Given the description of an element on the screen output the (x, y) to click on. 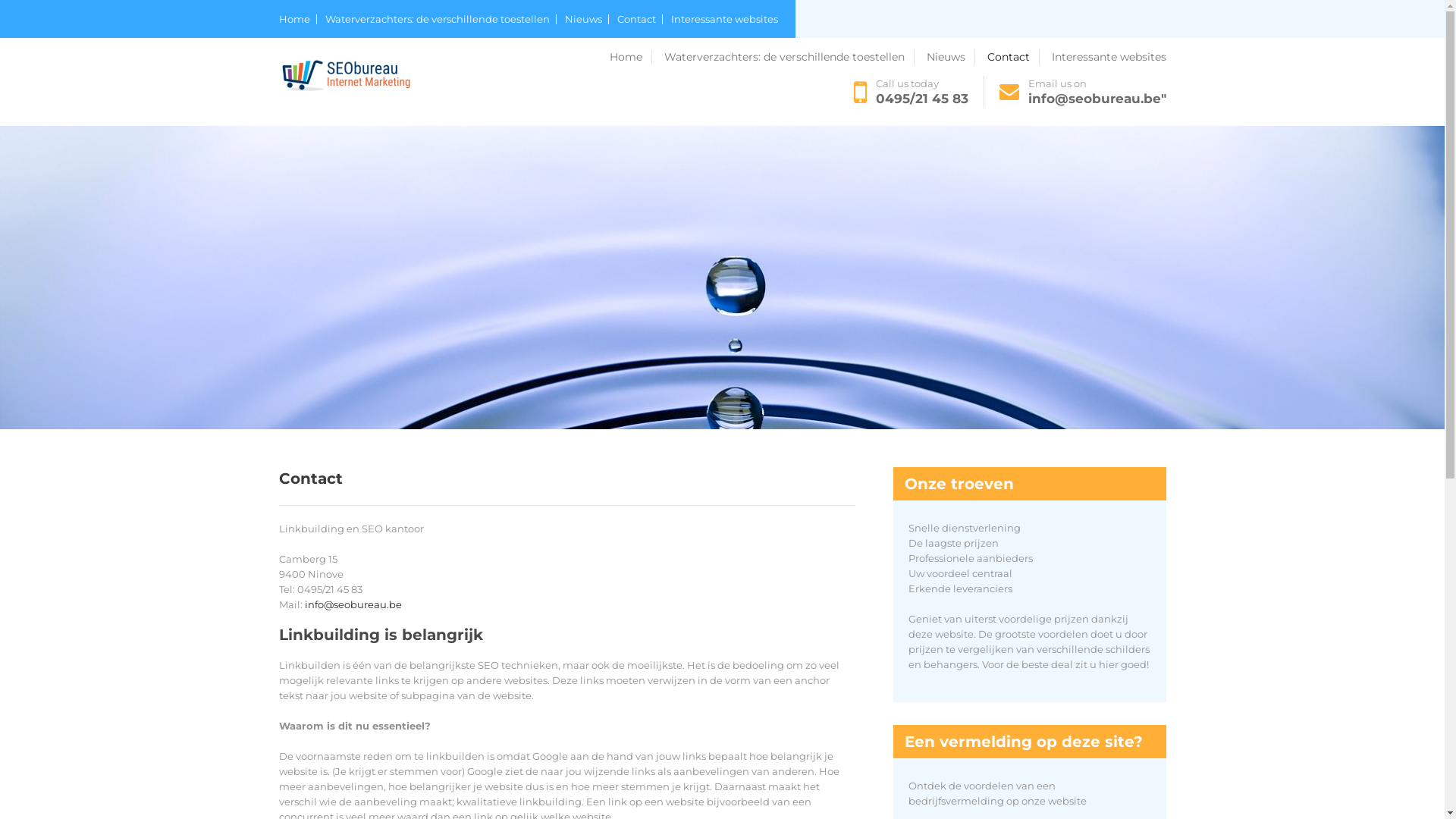
Contact Element type: text (639, 19)
Interessante websites Element type: text (1108, 56)
info@seobureau.be" Element type: text (1097, 98)
Contact Element type: text (1013, 56)
Waterverzachters: de verschillende toestellen Element type: text (439, 19)
Home Element type: text (297, 19)
Home Element type: text (630, 56)
info@seobureau.be Element type: text (352, 604)
Interessante websites Element type: text (723, 19)
Nieuws Element type: text (950, 56)
Nieuws Element type: text (586, 19)
Waterverzachters: de verschillende toestellen Element type: text (789, 56)
